Given the description of an element on the screen output the (x, y) to click on. 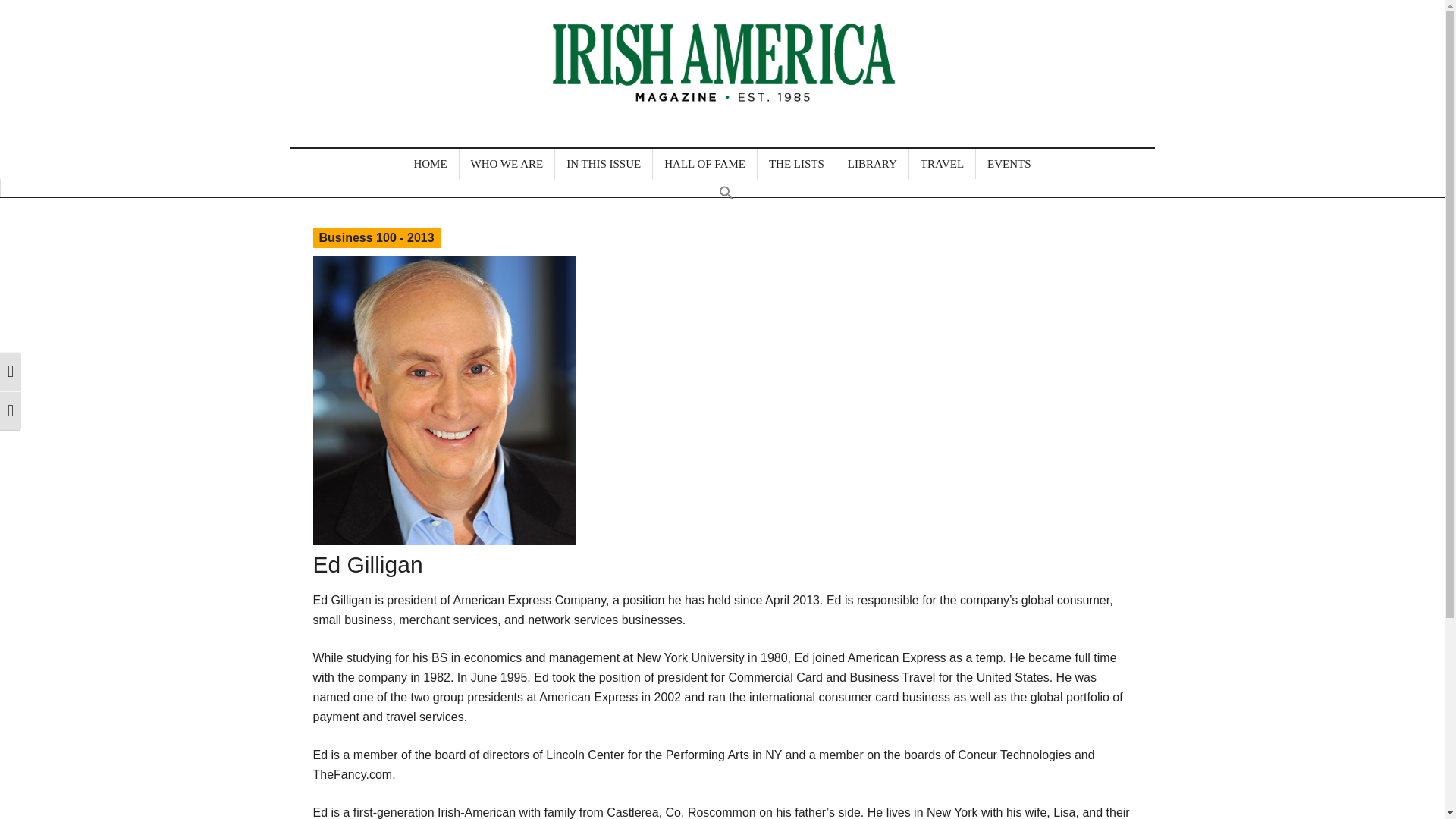
LIBRARY (871, 163)
HALL OF FAME (704, 163)
WHO WE ARE (507, 163)
IN THIS ISSUE (603, 163)
THE LISTS (796, 163)
EVENTS (1008, 163)
TRAVEL (941, 163)
HOME (429, 163)
